Given the description of an element on the screen output the (x, y) to click on. 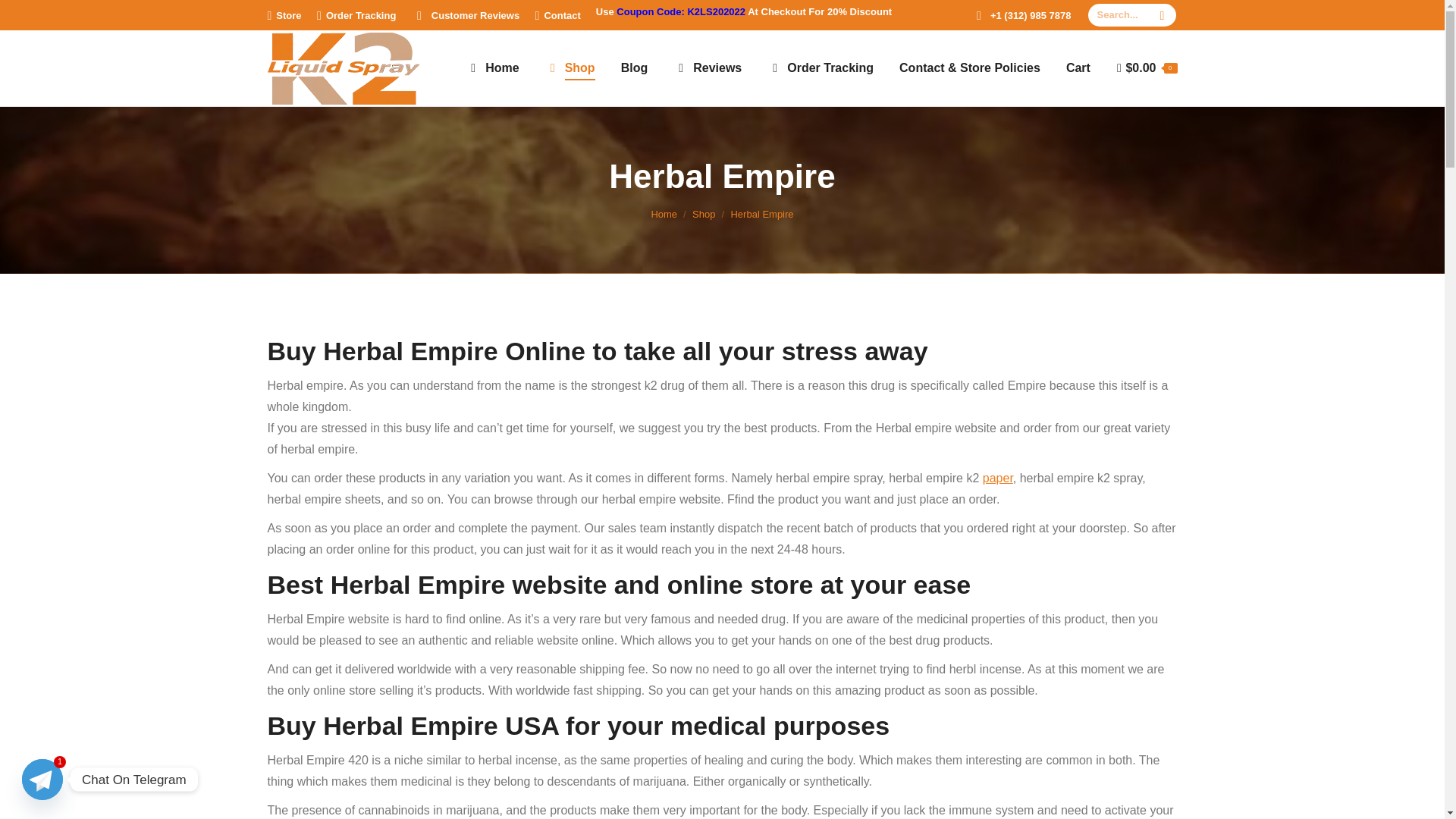
Home (491, 68)
Shop (569, 68)
Blog (634, 68)
Order Tracking (356, 14)
Go! (24, 16)
Order Tracking (820, 68)
Contact (557, 14)
Store (283, 14)
Home (663, 213)
Customer Reviews (465, 14)
Search form (1131, 14)
Reviews (706, 68)
Shop (703, 213)
